Given the description of an element on the screen output the (x, y) to click on. 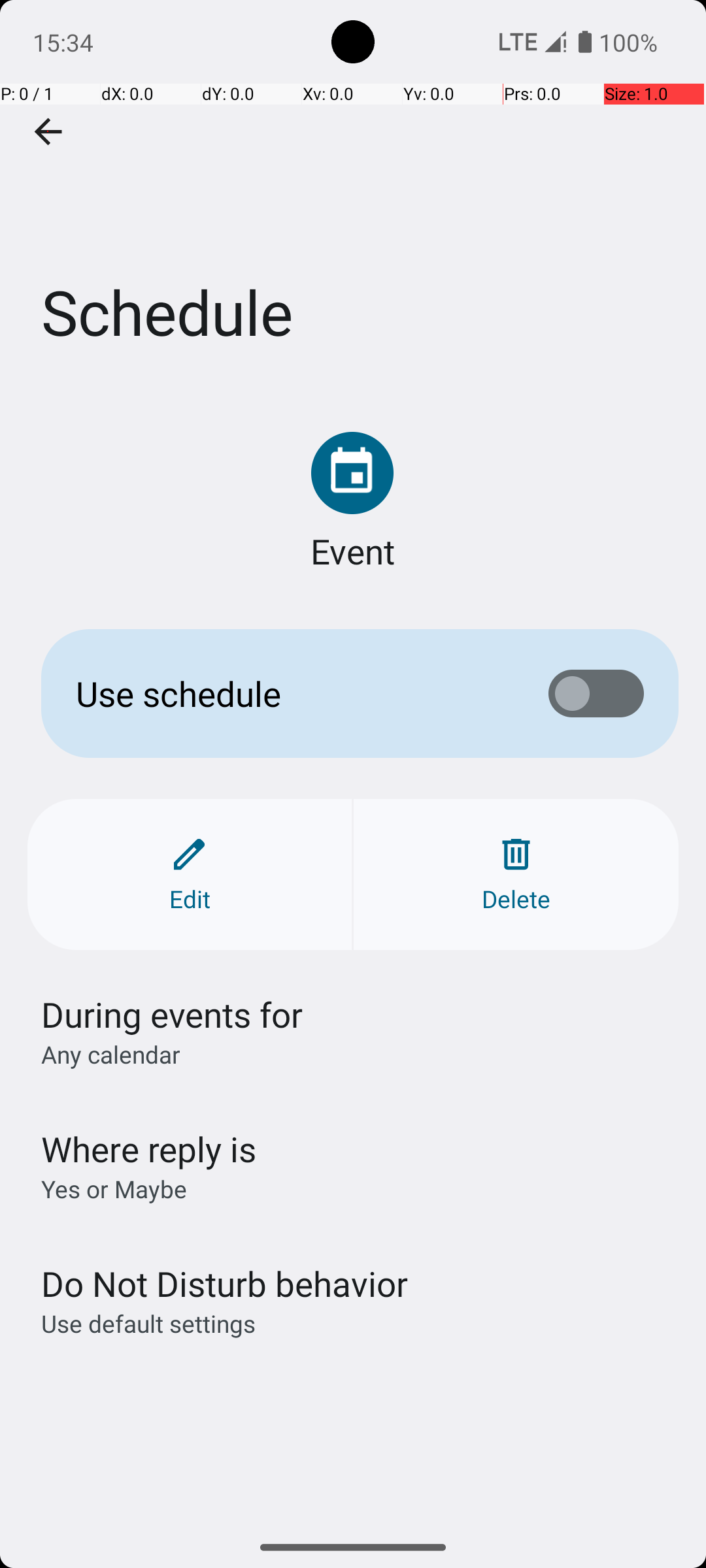
Schedule Element type: android.widget.FrameLayout (353, 195)
Use schedule Element type: android.widget.TextView (291, 693)
During events for Element type: android.widget.TextView (172, 1014)
Any calendar Element type: android.widget.TextView (110, 1053)
Where reply is Element type: android.widget.TextView (148, 1148)
Yes or Maybe Element type: android.widget.TextView (113, 1188)
Do Not Disturb behavior Element type: android.widget.TextView (224, 1283)
Use default settings Element type: android.widget.TextView (148, 1322)
